Given the description of an element on the screen output the (x, y) to click on. 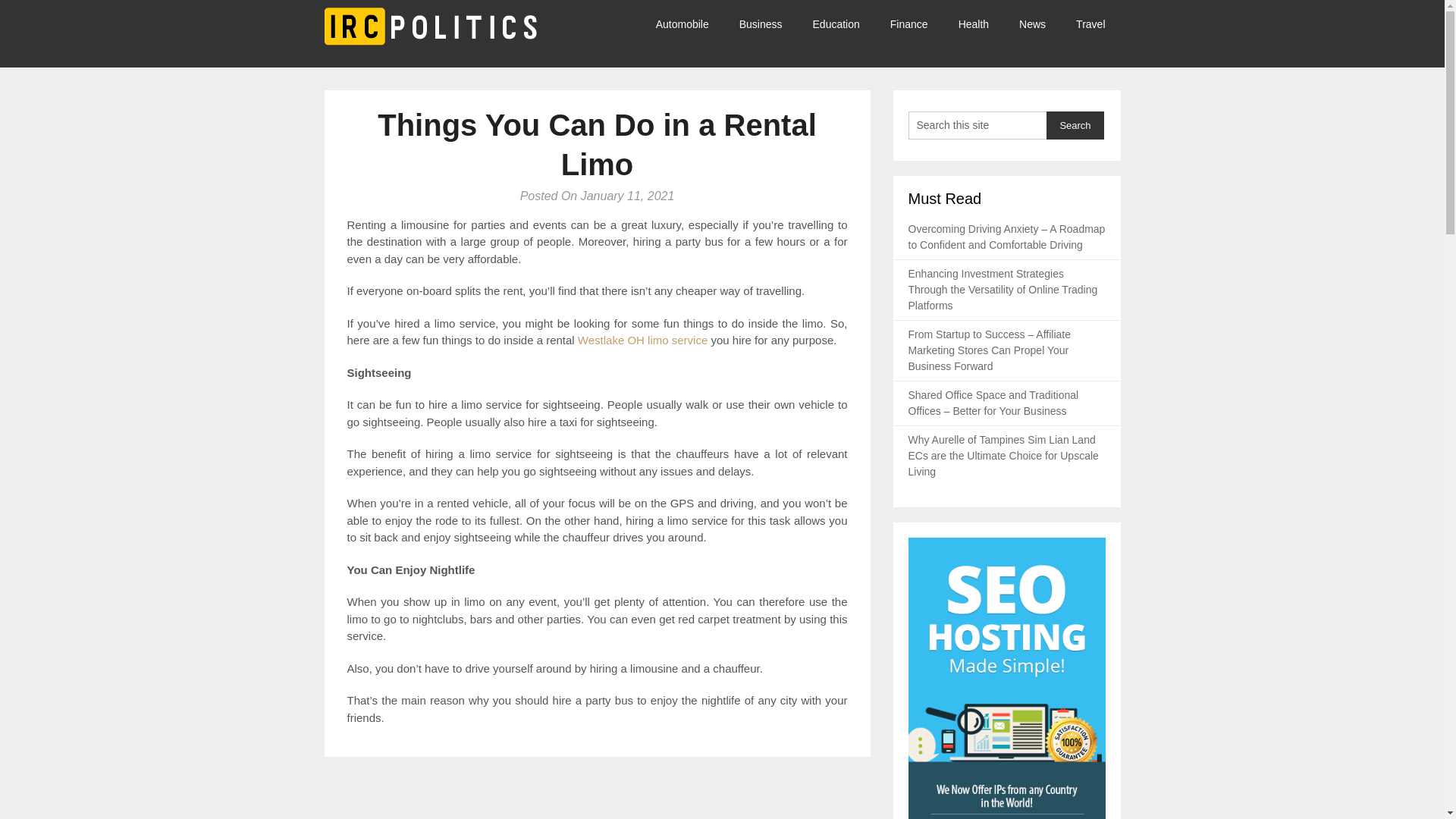
Travel (1090, 24)
Finance (909, 24)
Automobile (689, 24)
Education (836, 24)
News (1032, 24)
Westlake OH limo service (642, 339)
Search (1075, 125)
Business (760, 24)
Search (1075, 125)
Health (973, 24)
Search this site (977, 125)
